Given the description of an element on the screen output the (x, y) to click on. 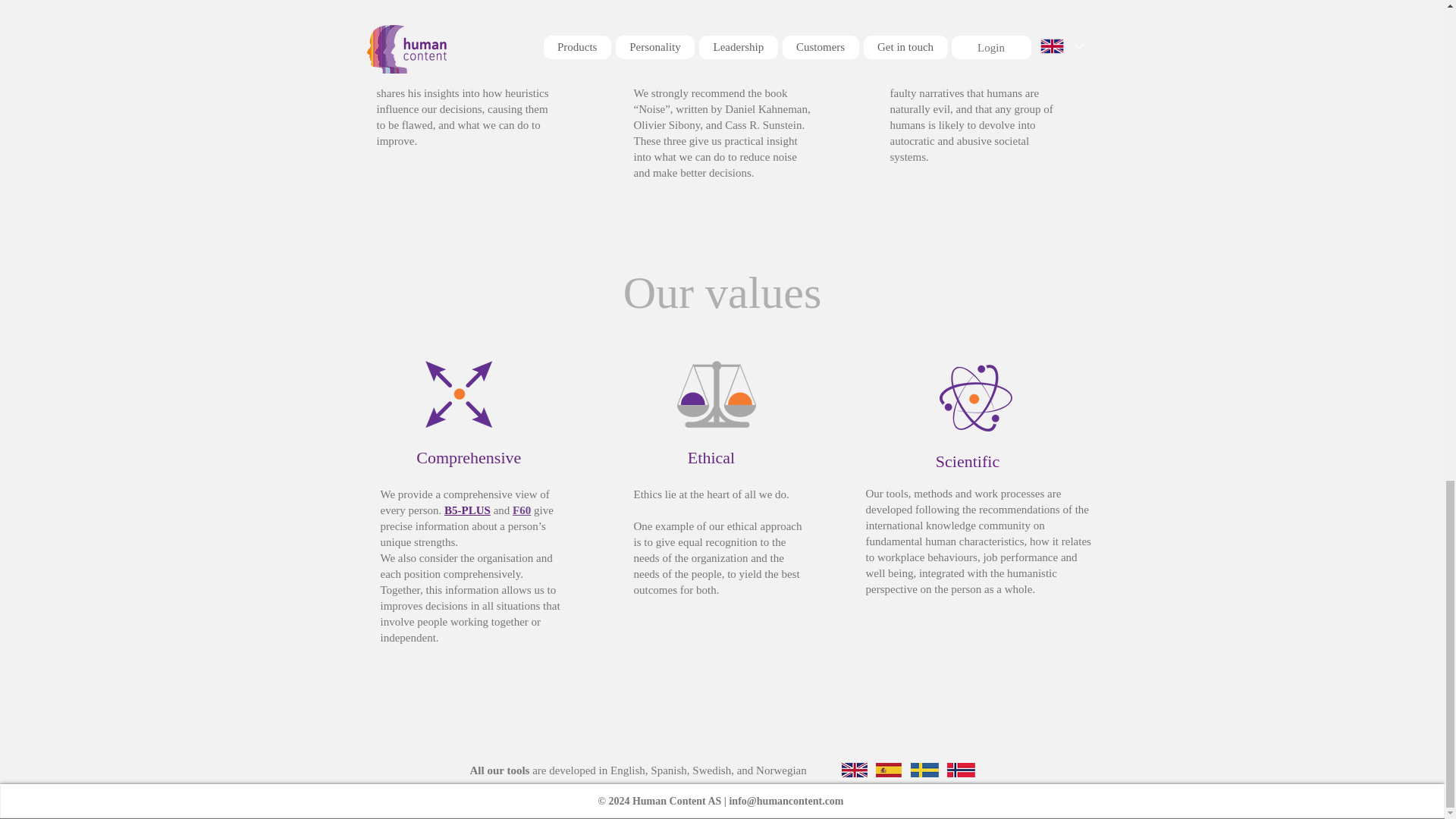
B5-PLUS (467, 510)
F60 (521, 510)
